Given the description of an element on the screen output the (x, y) to click on. 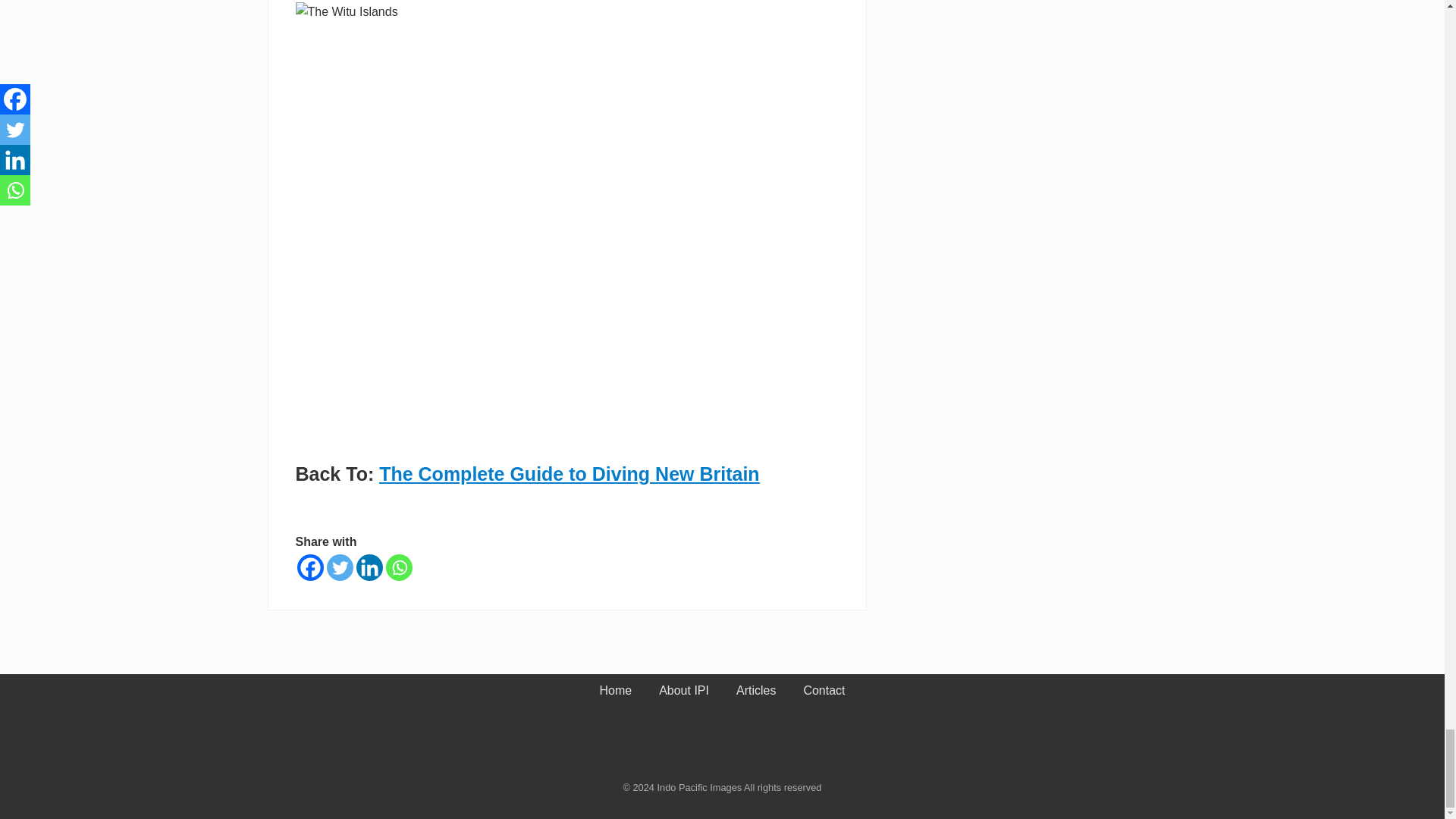
Twitter (339, 567)
Whatsapp (398, 567)
Linkedin (369, 567)
Facebook (310, 567)
